Given the description of an element on the screen output the (x, y) to click on. 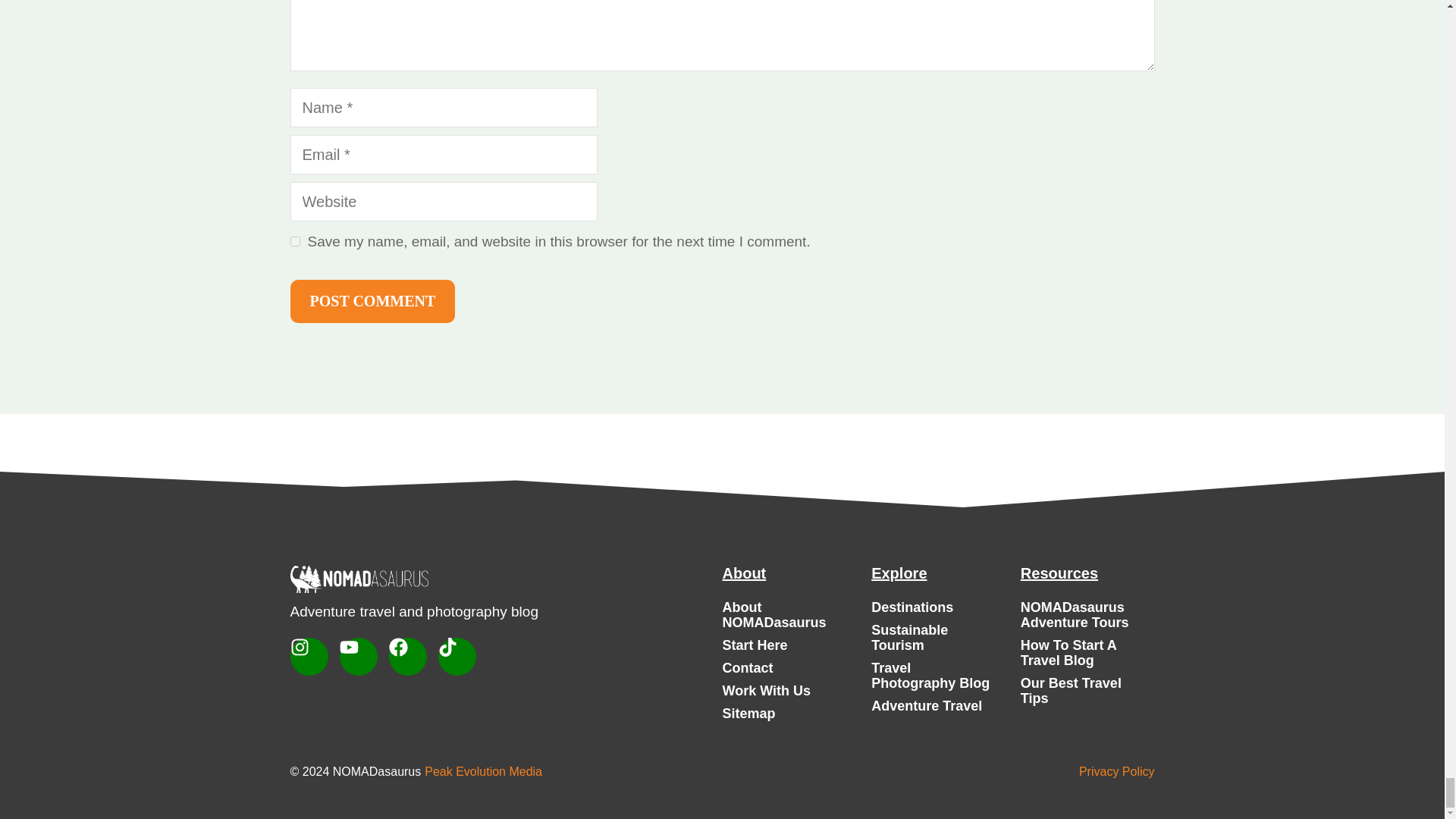
yes (294, 241)
Post Comment (371, 300)
